Given the description of an element on the screen output the (x, y) to click on. 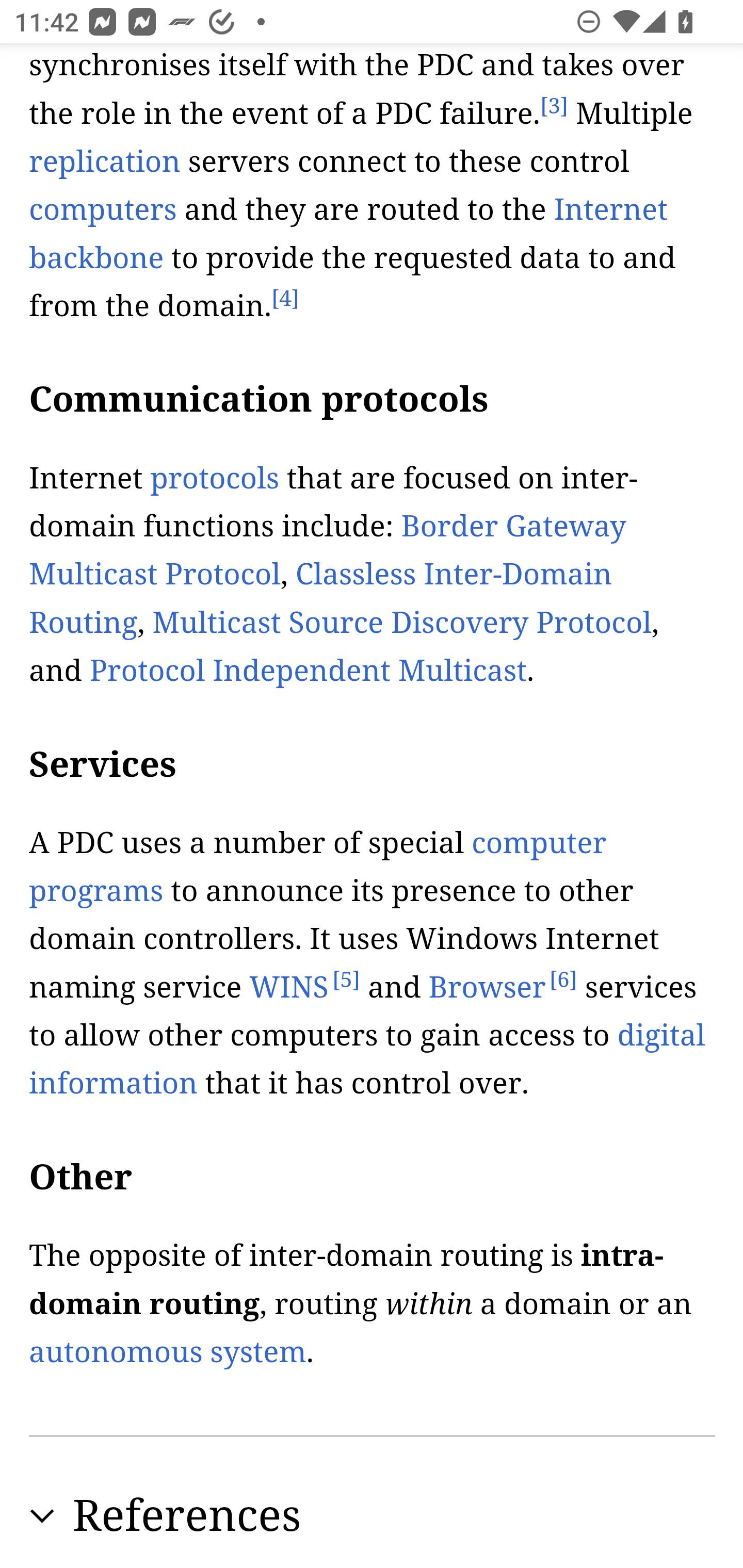
[] [ 3 ] (552, 107)
replication (105, 162)
computers (103, 210)
Internet backbone (348, 234)
[] [ 4 ] (285, 299)
protocols (214, 480)
Border Gateway Multicast Protocol (327, 552)
Classless Inter-Domain Routing (320, 600)
Multicast Source Discovery Protocol (402, 624)
Protocol Independent Multicast (307, 671)
computer programs (317, 868)
[] [ 5 ] (346, 980)
[] [ 6 ] (563, 980)
WINS (288, 988)
Browser (486, 988)
digital information (366, 1059)
autonomous system (167, 1353)
Expand section References (372, 1517)
Expand section (41, 1517)
